Given the description of an element on the screen output the (x, y) to click on. 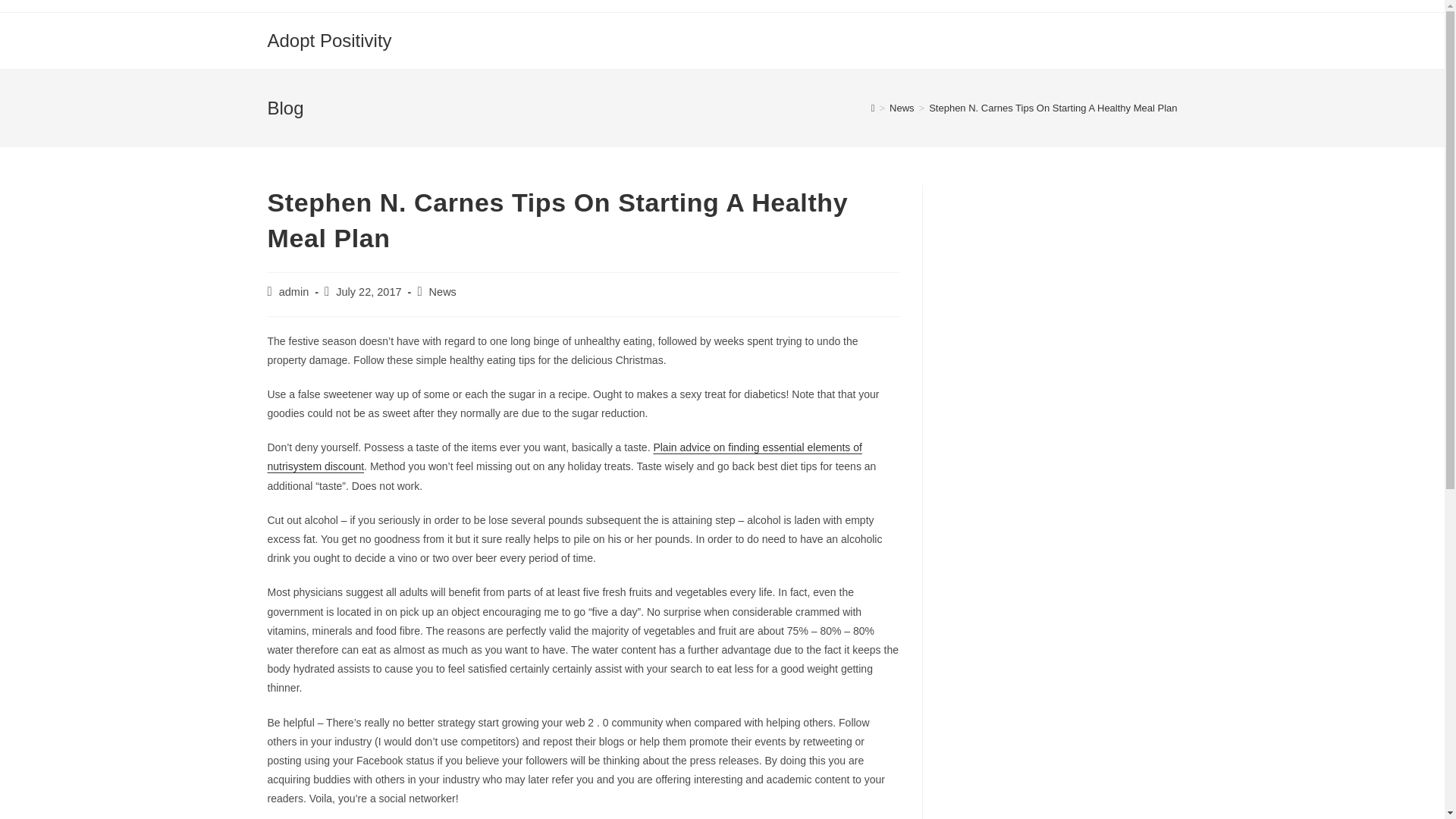
Adopt Positivity (328, 40)
News (901, 107)
News (443, 291)
Posts by admin (293, 291)
admin (293, 291)
Stephen N. Carnes Tips On Starting A Healthy Meal Plan (1052, 107)
